Given the description of an element on the screen output the (x, y) to click on. 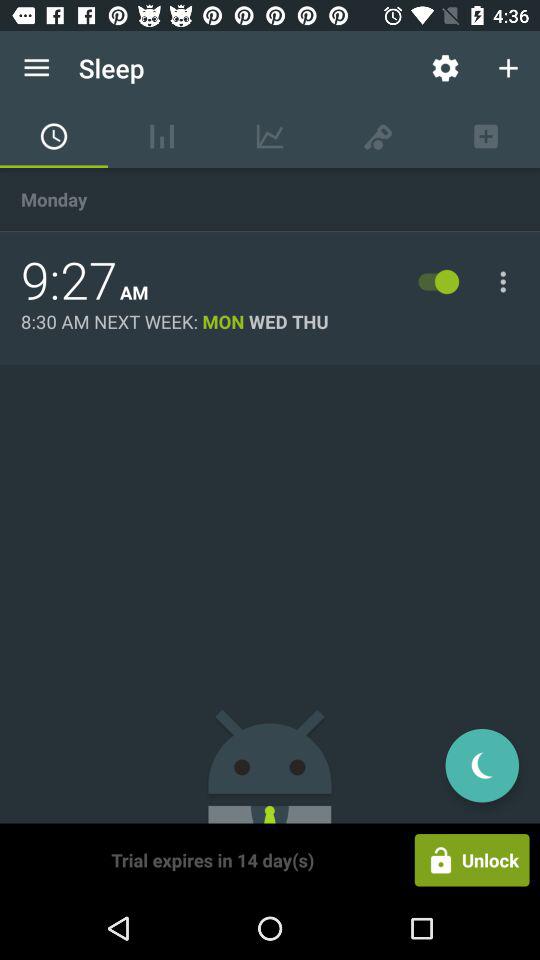
night mode (482, 765)
